Given the description of an element on the screen output the (x, y) to click on. 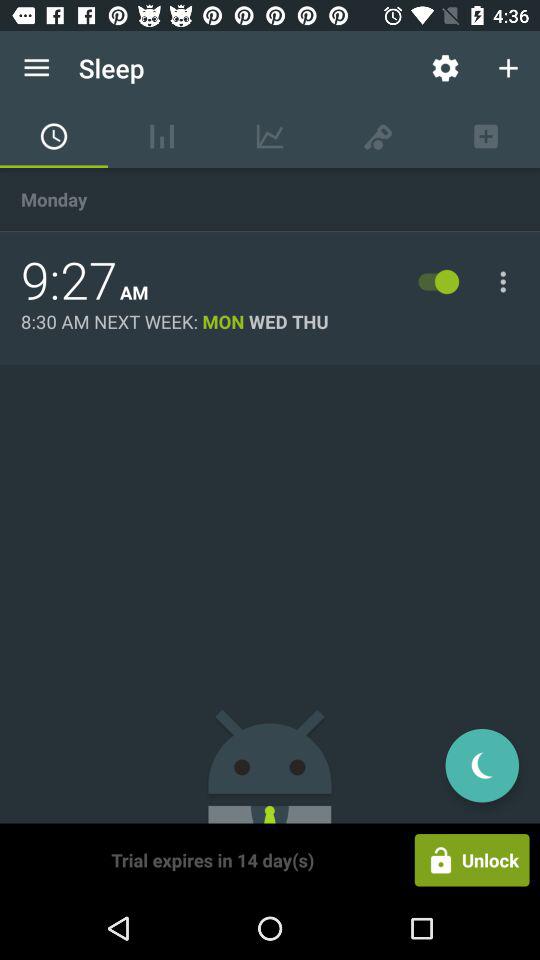
night mode (482, 765)
